Given the description of an element on the screen output the (x, y) to click on. 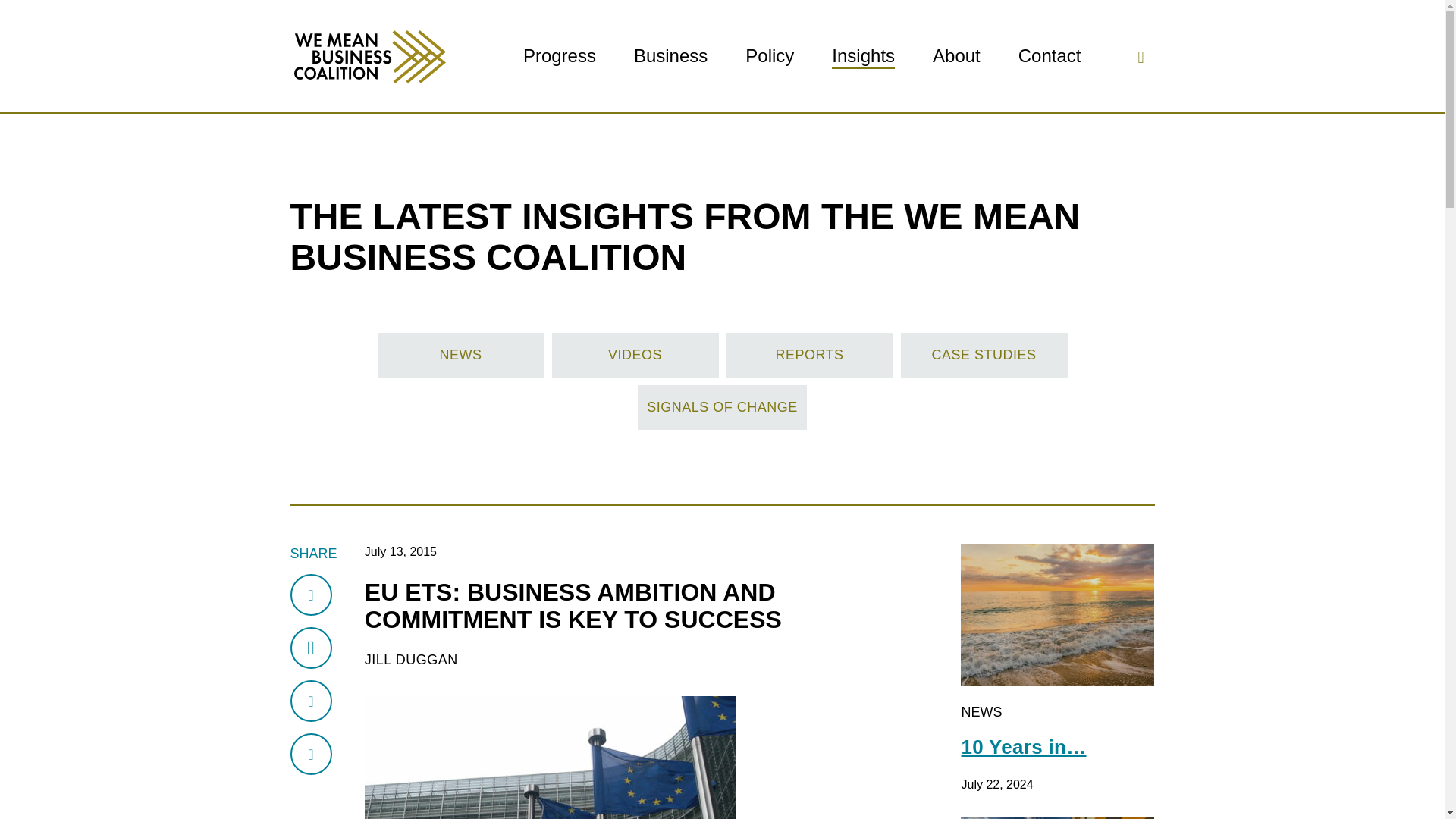
NEWS (460, 354)
REPORTS (809, 354)
Insights (863, 55)
VIDEOS (635, 354)
About (956, 55)
Contact (1049, 55)
Insights (863, 55)
Policy (769, 55)
CASE STUDIES (984, 354)
Contact (1049, 55)
SIGNALS OF CHANGE (721, 406)
Progress (558, 55)
Business (670, 55)
About (956, 55)
Policy (769, 55)
